Given the description of an element on the screen output the (x, y) to click on. 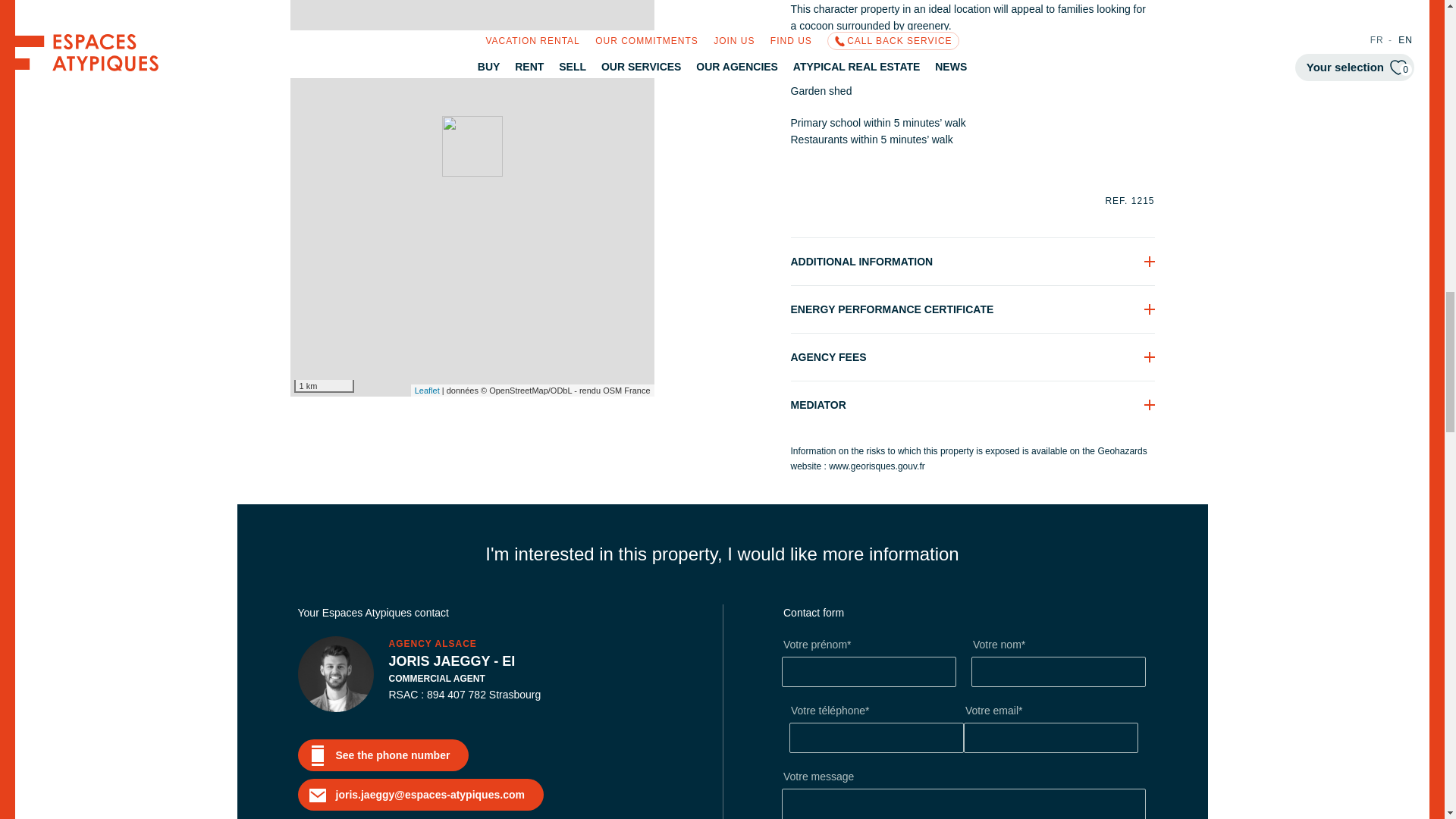
A JS library for interactive maps (426, 389)
